Given the description of an element on the screen output the (x, y) to click on. 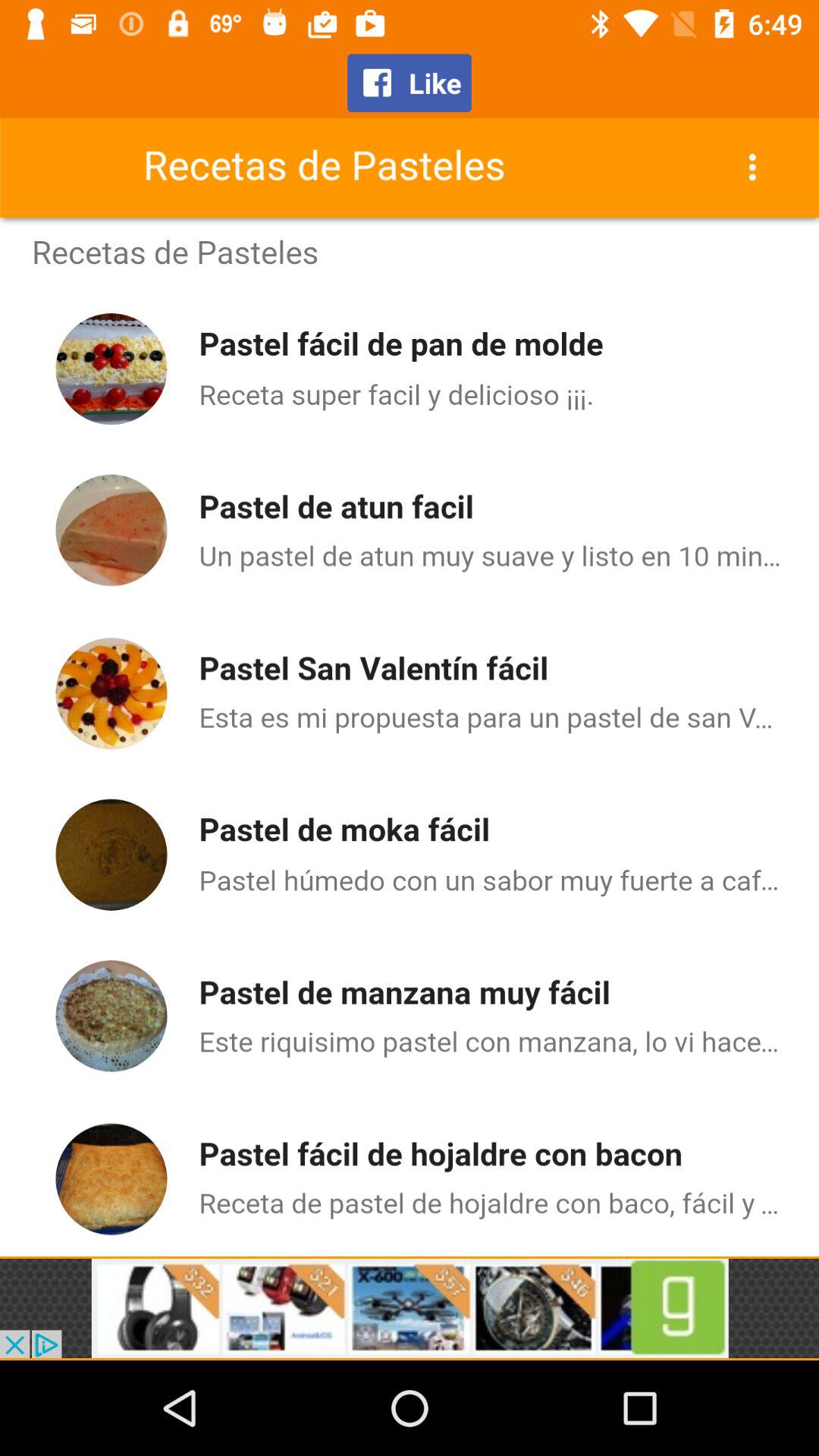
go to advertising partner (409, 1308)
